Given the description of an element on the screen output the (x, y) to click on. 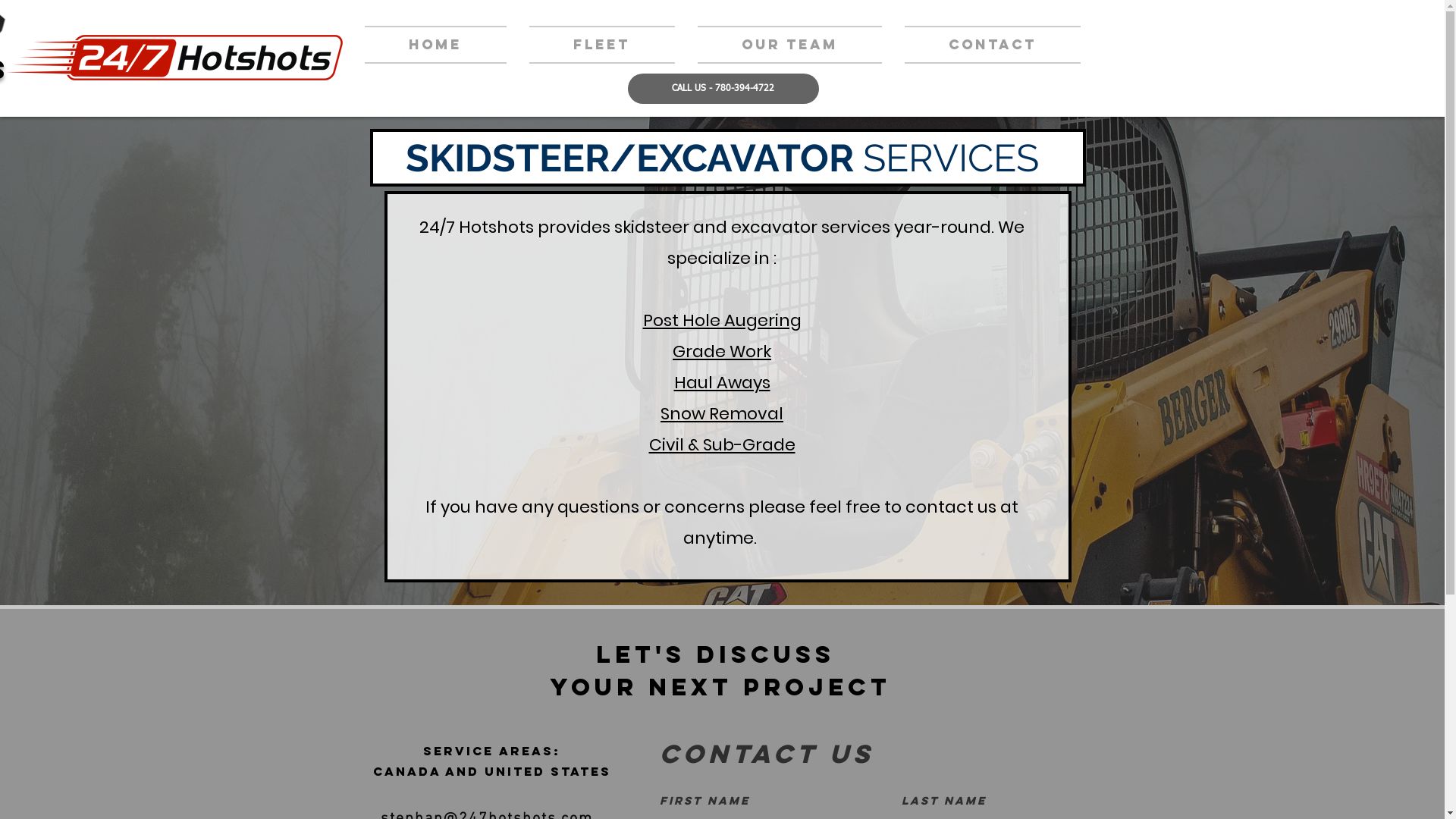
Our Team Element type: text (788, 44)
Fleet Element type: text (601, 44)
Contact Element type: text (986, 44)
Home Element type: text (440, 44)
CALL US - 780-394-4722 Element type: text (723, 88)
